Given the description of an element on the screen output the (x, y) to click on. 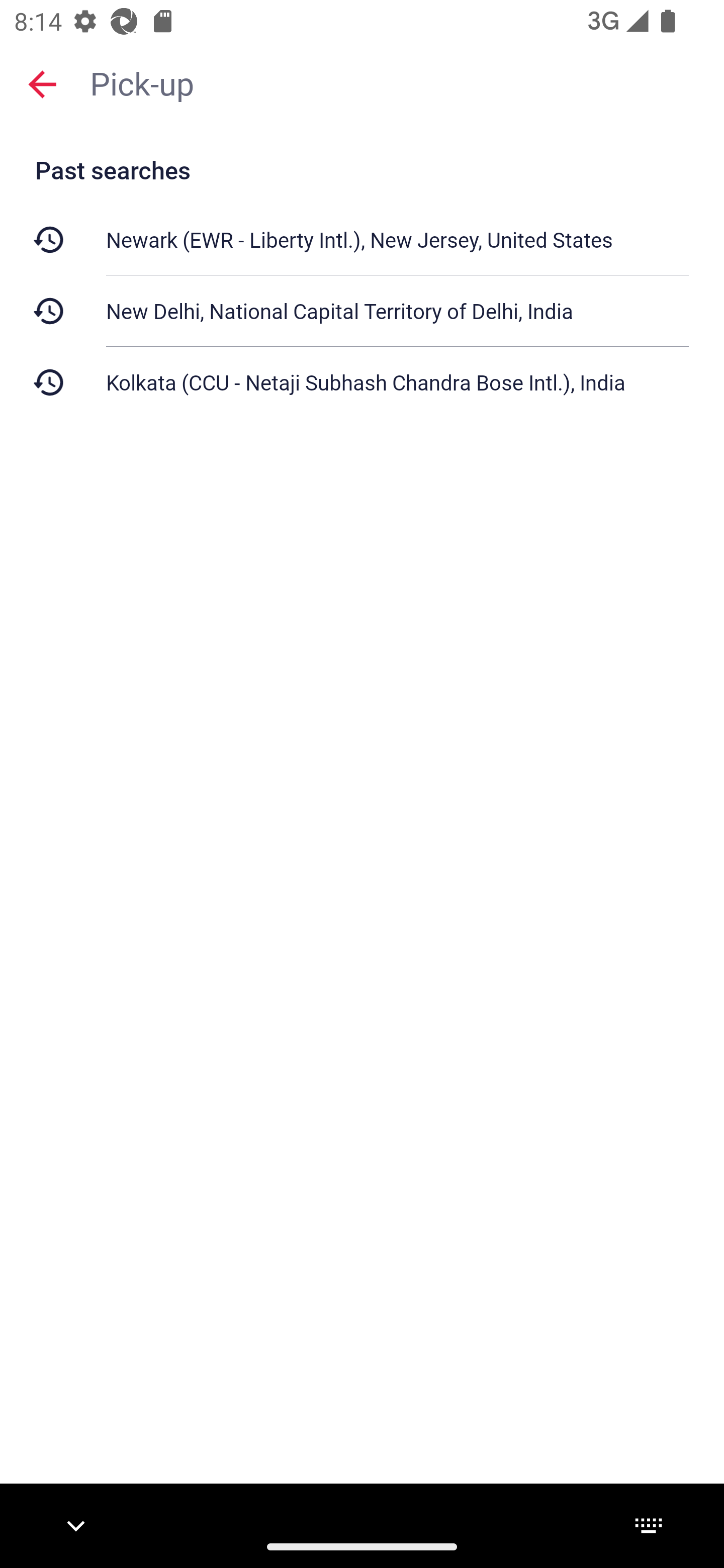
Pick-up,  (397, 82)
Close search screen (41, 83)
